Given the description of an element on the screen output the (x, y) to click on. 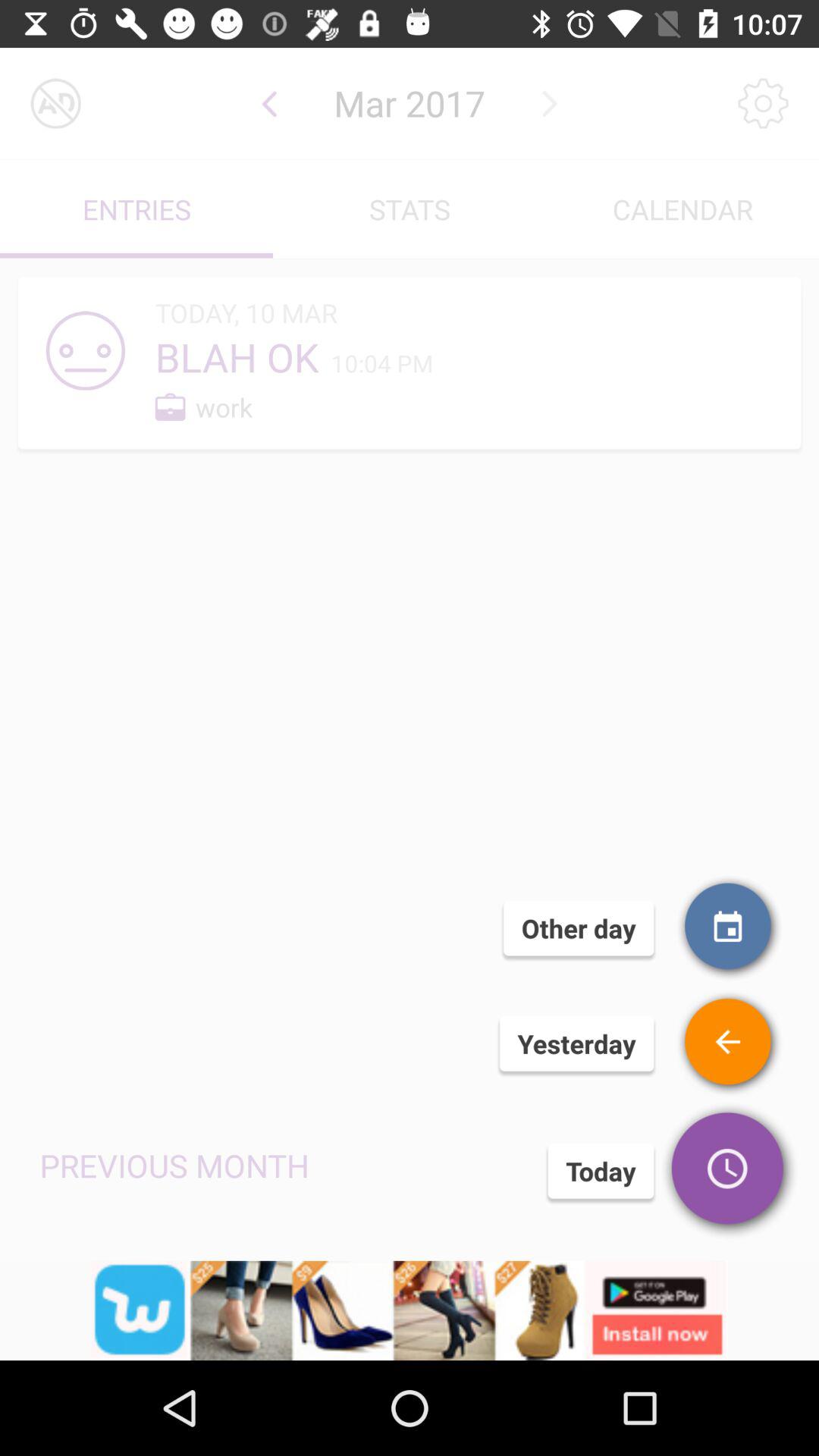
go to setting (763, 103)
